Given the description of an element on the screen output the (x, y) to click on. 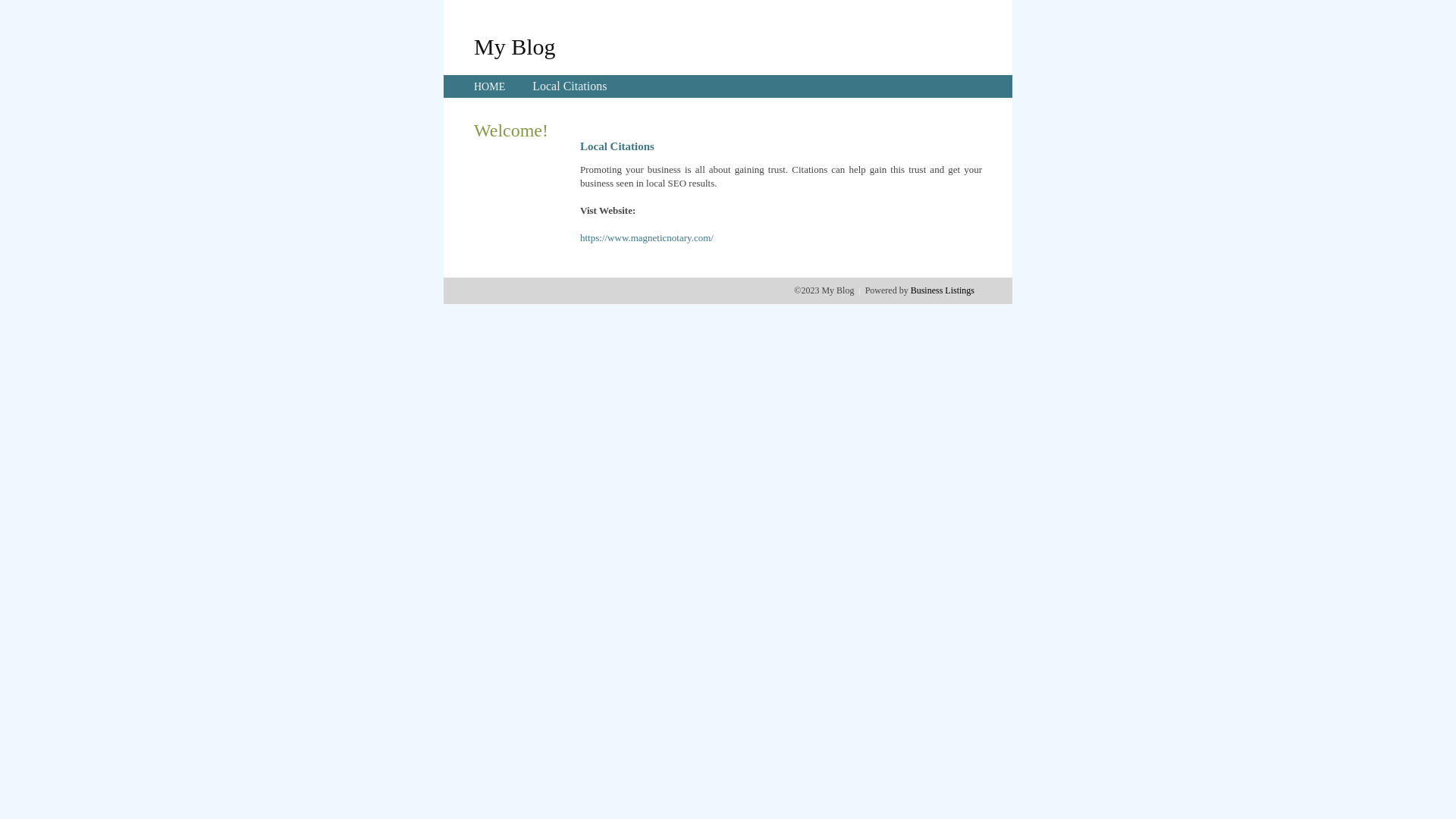
Local Citations Element type: text (569, 85)
https://www.magneticnotary.com/ Element type: text (646, 237)
Business Listings Element type: text (942, 290)
My Blog Element type: text (514, 46)
HOME Element type: text (489, 86)
